Given the description of an element on the screen output the (x, y) to click on. 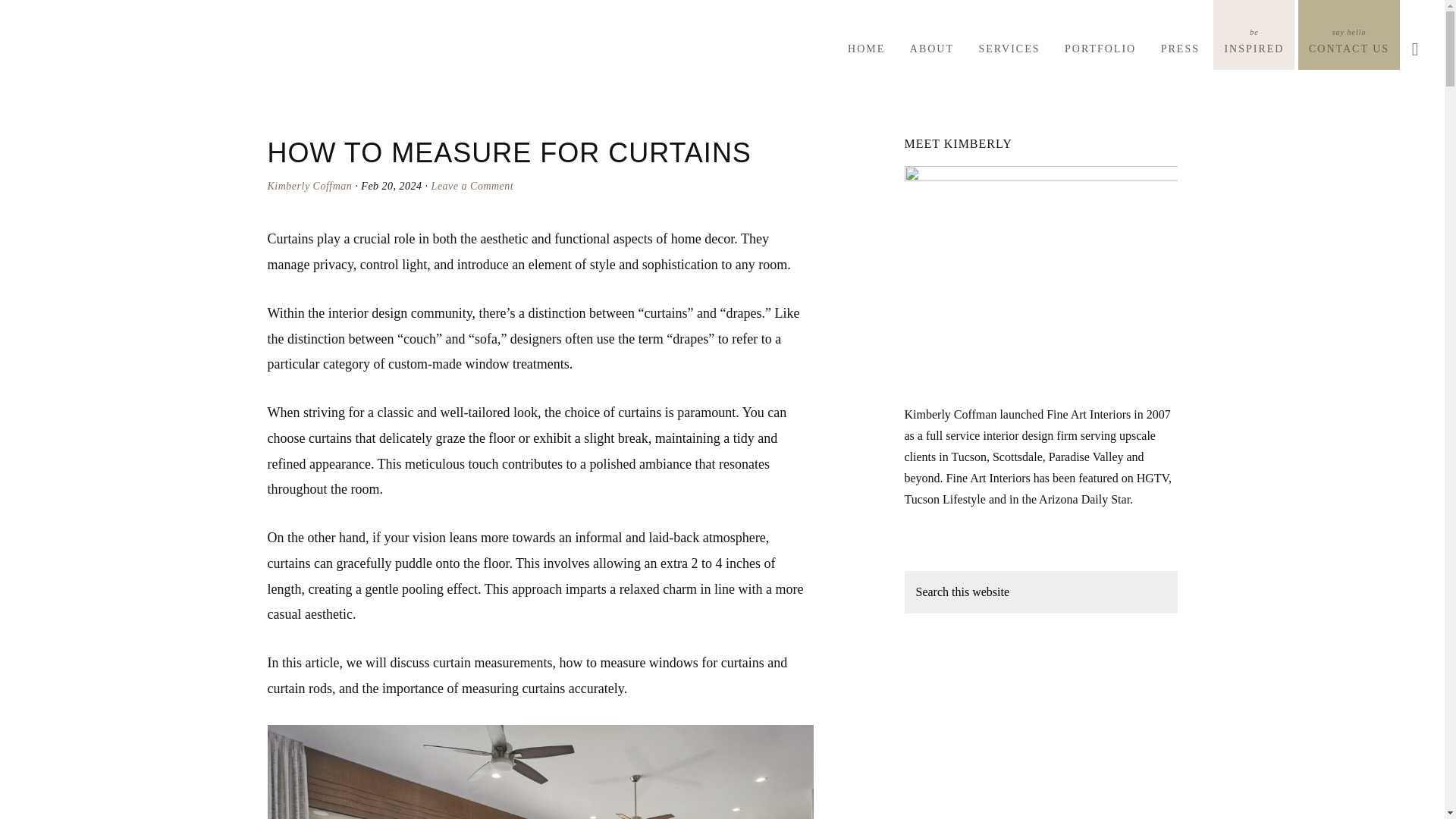
Kimberly Coffman (309, 185)
HOME (866, 38)
PRESS (1179, 42)
Leave a Comment (471, 185)
FINE ART INTERIORS (1253, 34)
PORTFOLIO (154, 38)
Search (1100, 38)
